Given the description of an element on the screen output the (x, y) to click on. 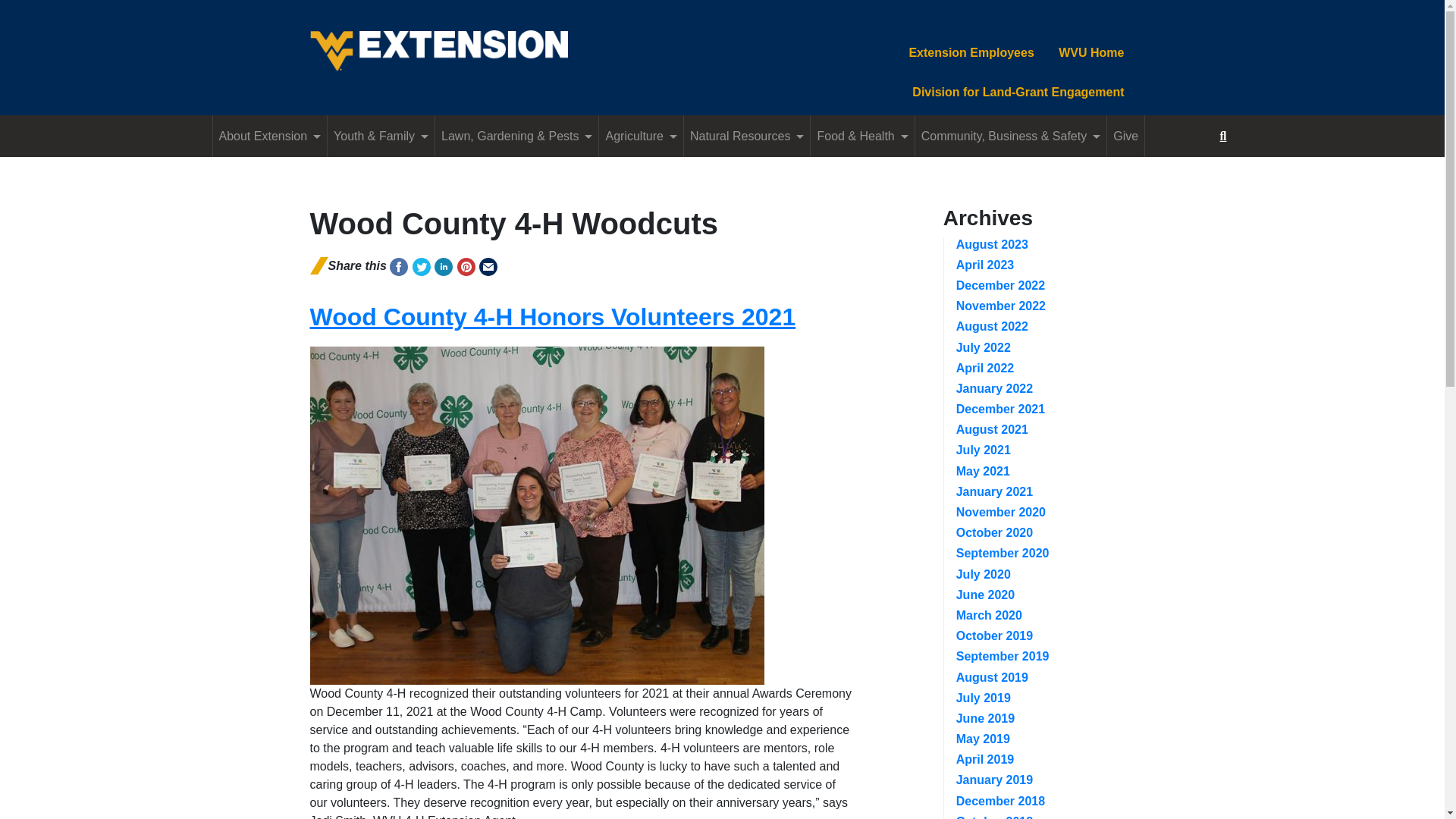
Pin This (466, 266)
WVU Home (1091, 52)
Share This (398, 266)
About Extension (270, 136)
Division for Land-Grant Engagement (1017, 92)
Email This (488, 266)
Agriculture (640, 136)
Tweet This (421, 266)
Link This (442, 266)
Extension Employees (970, 52)
